Given the description of an element on the screen output the (x, y) to click on. 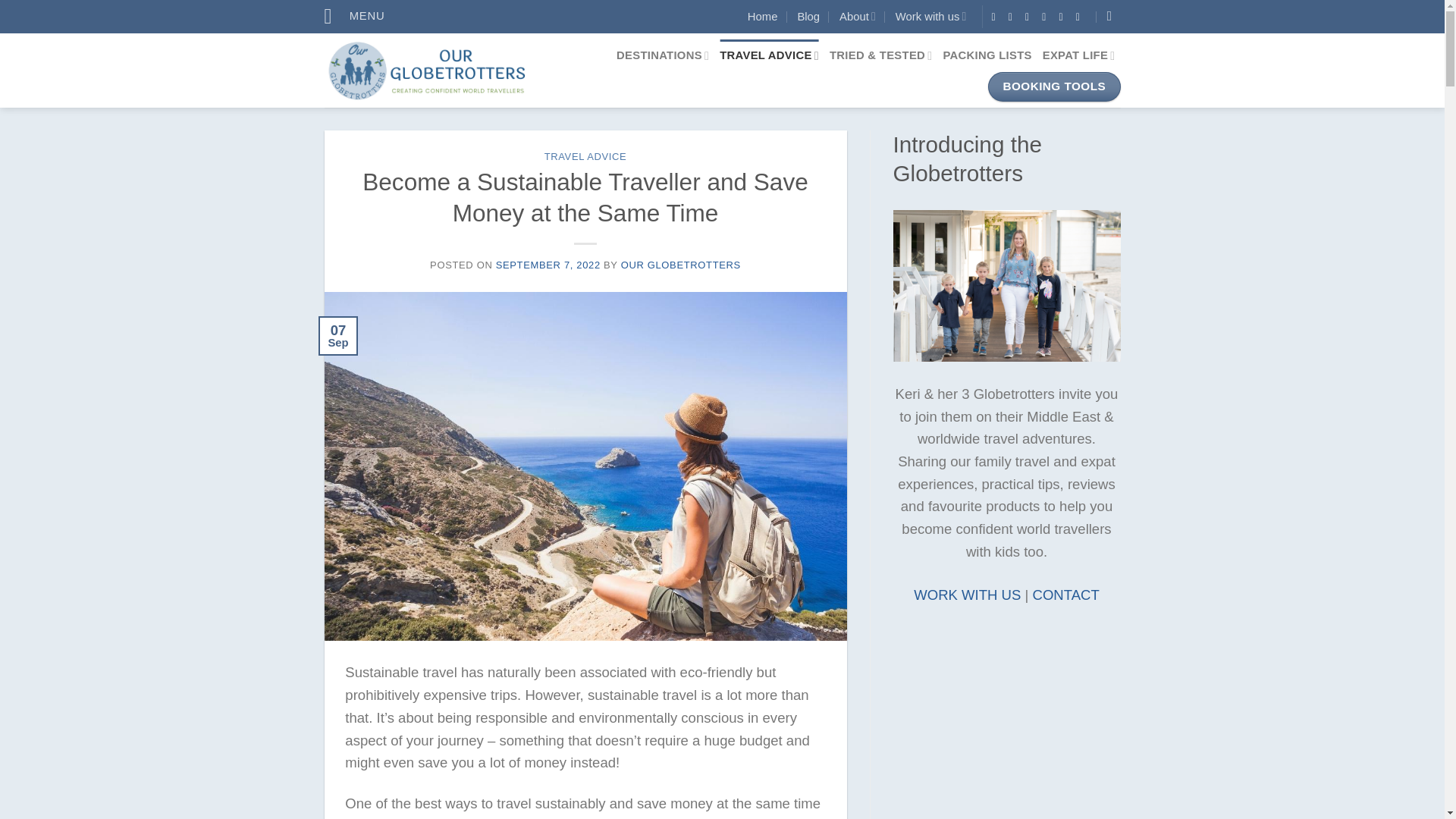
Follow on Instagram (1014, 16)
Follow on YouTube (1080, 16)
DESTINATIONS (662, 55)
Follow on Pinterest (1064, 16)
Send us an email (1047, 16)
MENU (354, 16)
Work with us (930, 15)
Reviews on family travel destinations (662, 55)
Home (762, 15)
Blog (807, 15)
About (858, 15)
TRAVEL ADVICE (768, 55)
Follow on Facebook (997, 16)
Our Globetrotters - Creating Confident World Travellers (443, 70)
Follow on X (1030, 16)
